Given the description of an element on the screen output the (x, y) to click on. 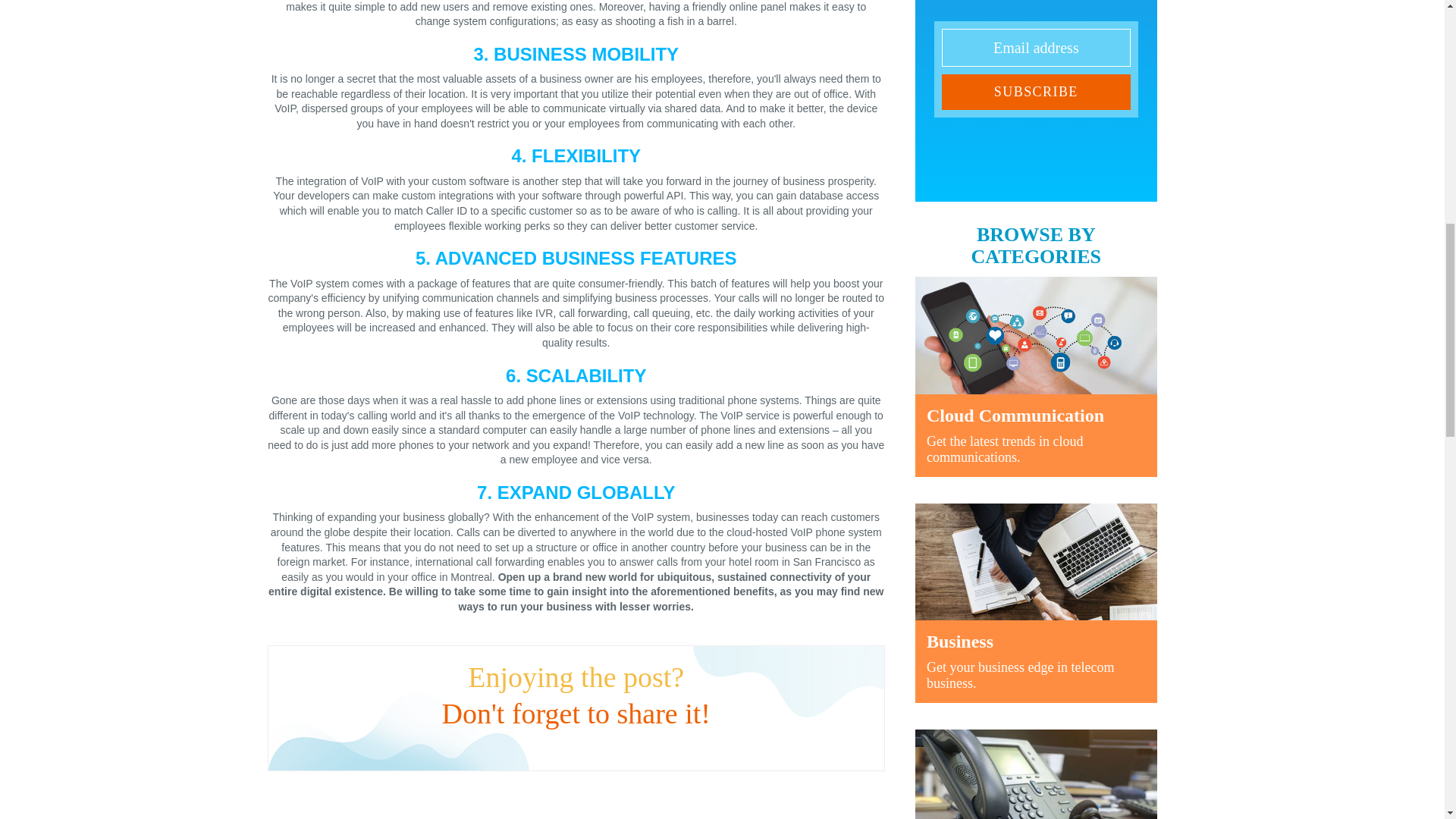
package of features (463, 283)
SUBSCRIBE (1036, 92)
cloud-hosted VoIP phone system features (581, 539)
features (1036, 602)
phones (1036, 774)
